Given the description of an element on the screen output the (x, y) to click on. 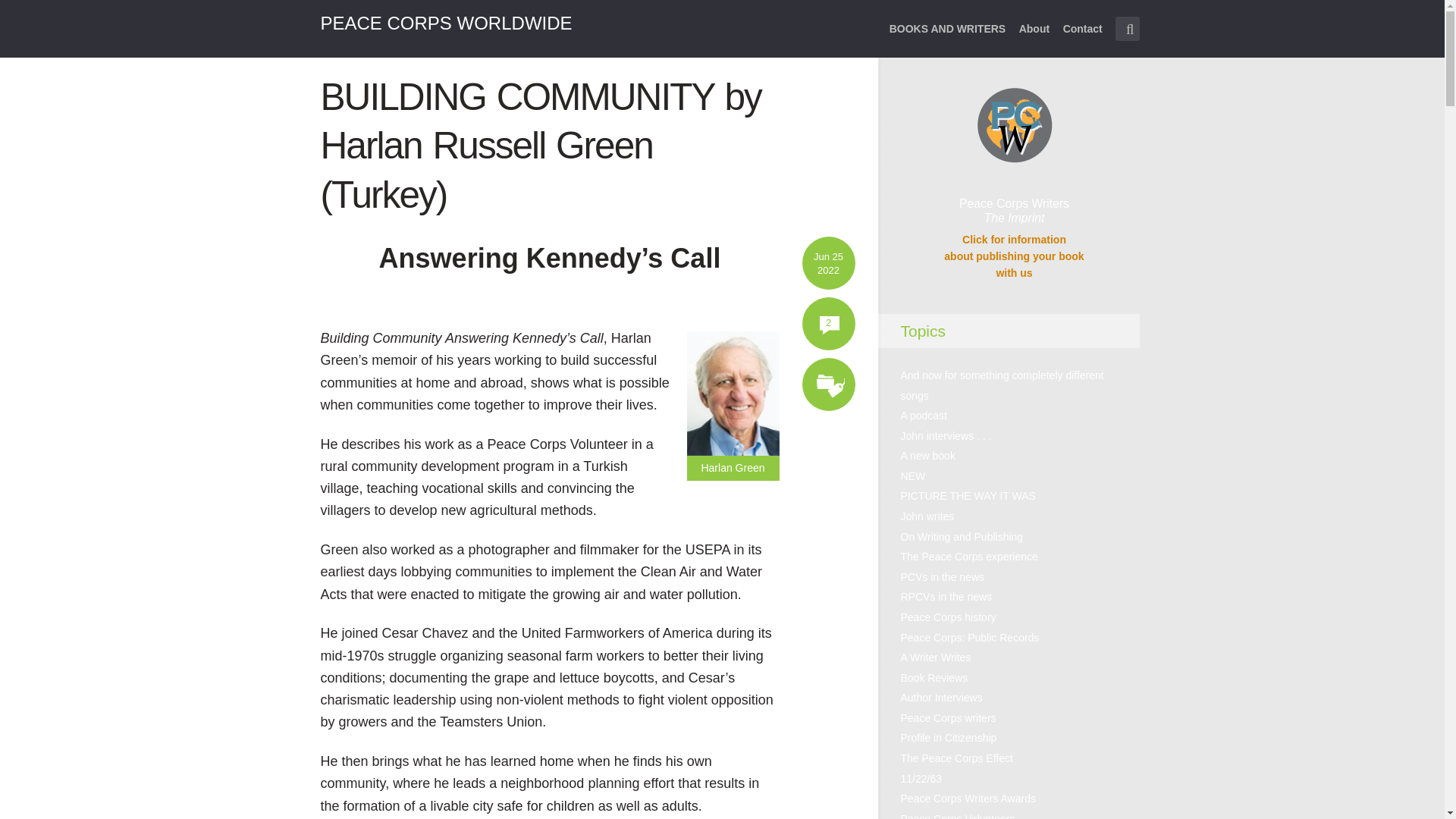
PICTURE THE WAY IT WAS (968, 495)
On Writing and Publishing (962, 536)
A podcast (924, 415)
Peace Corps: Public Records (970, 637)
Peace Corps history (948, 616)
Type here to search... (1126, 28)
BOOKS AND WRITERS (947, 37)
John writes (928, 516)
PCVs in the news (943, 576)
RPCVs in the news (946, 596)
